Given the description of an element on the screen output the (x, y) to click on. 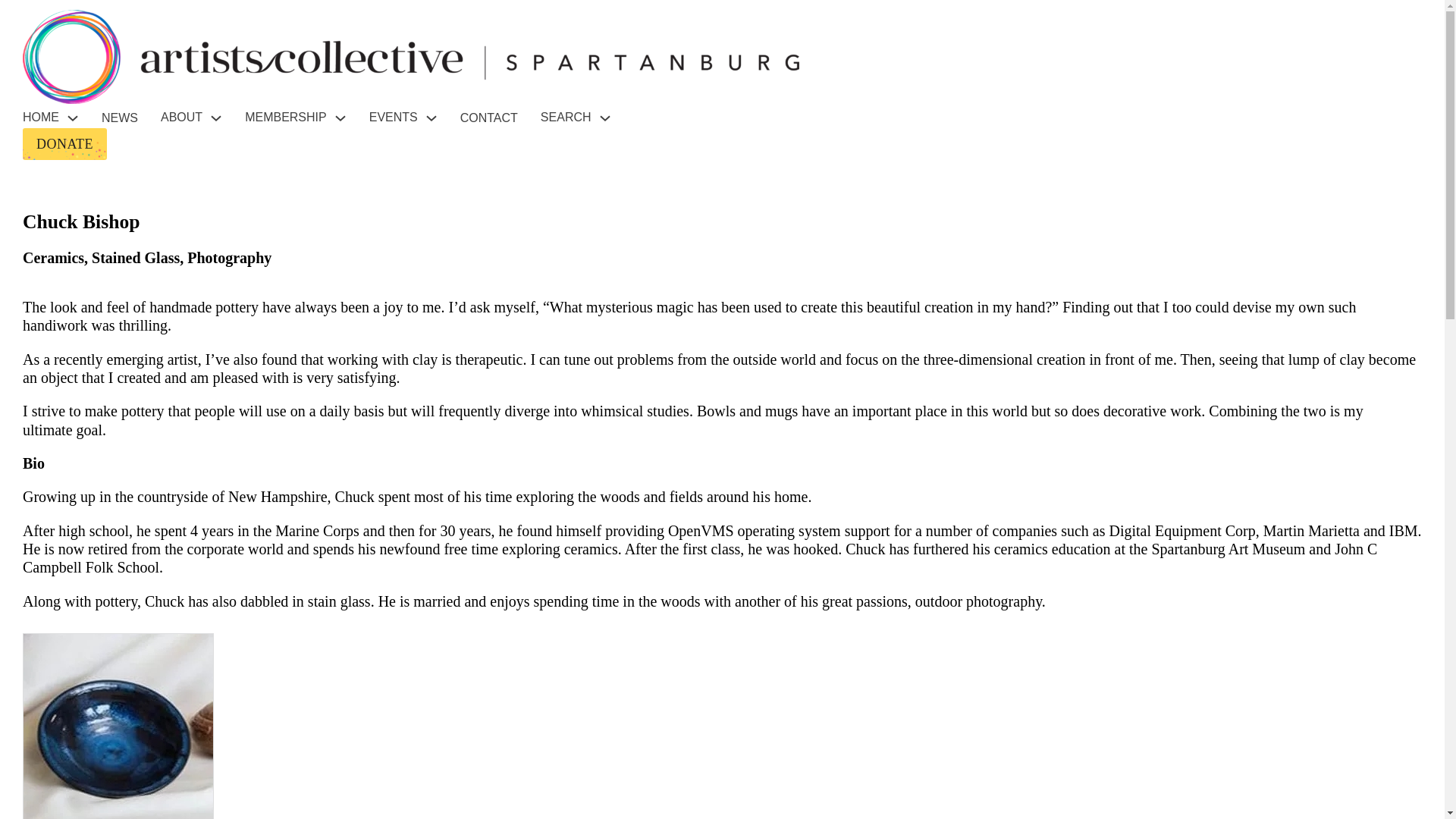
ABOUT (181, 117)
CONTACT (489, 117)
HOME (41, 117)
SEARCH (565, 117)
NEWS (119, 117)
EVENTS (393, 117)
MEMBERSHIP (285, 117)
DONATE (64, 143)
